Given the description of an element on the screen output the (x, y) to click on. 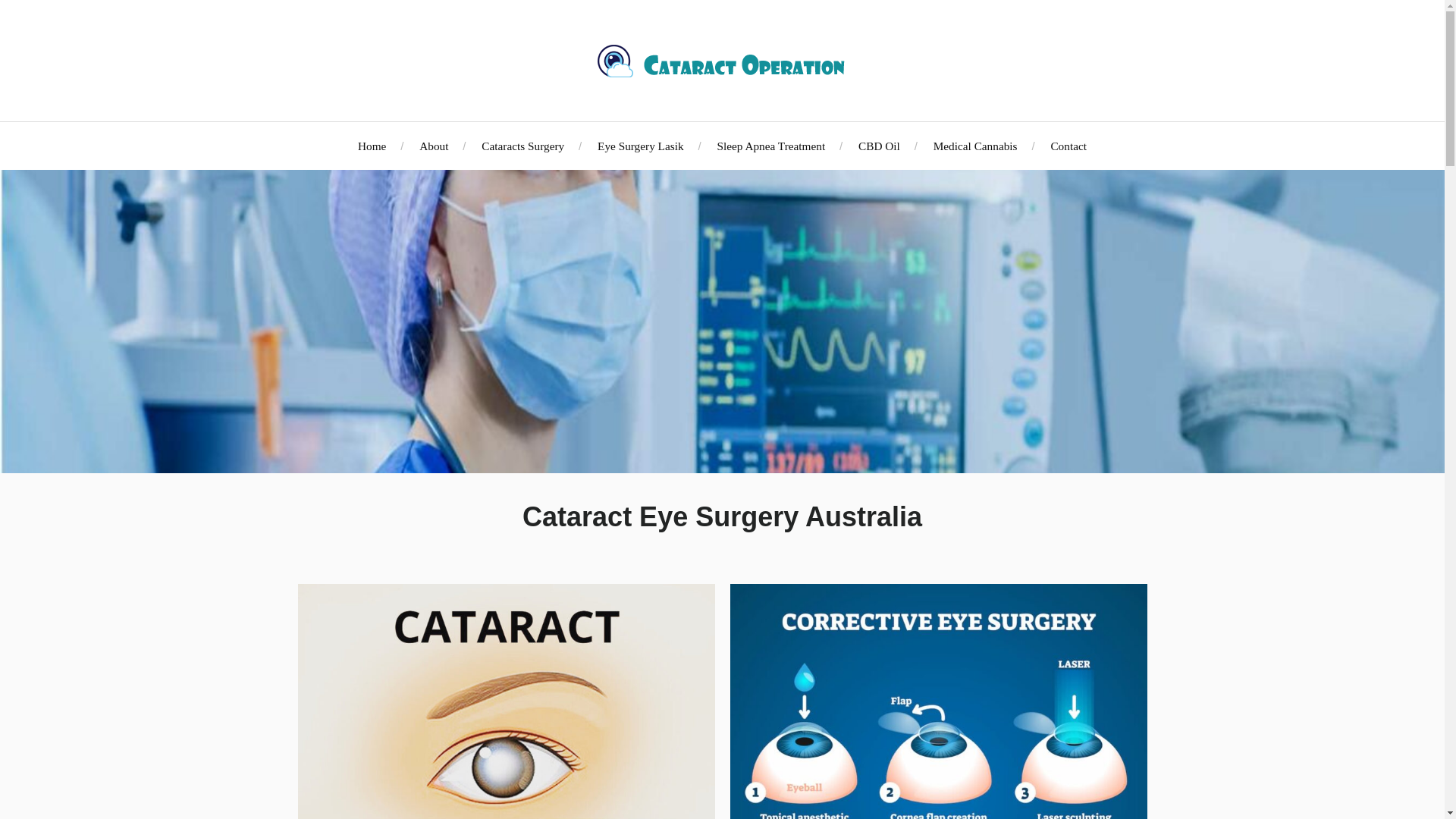
Sleep Apnea Treatment (770, 145)
Medical Cannabis (975, 145)
Eye Surgery Lasik (640, 145)
Cataracts Surgery (522, 145)
